Given the description of an element on the screen output the (x, y) to click on. 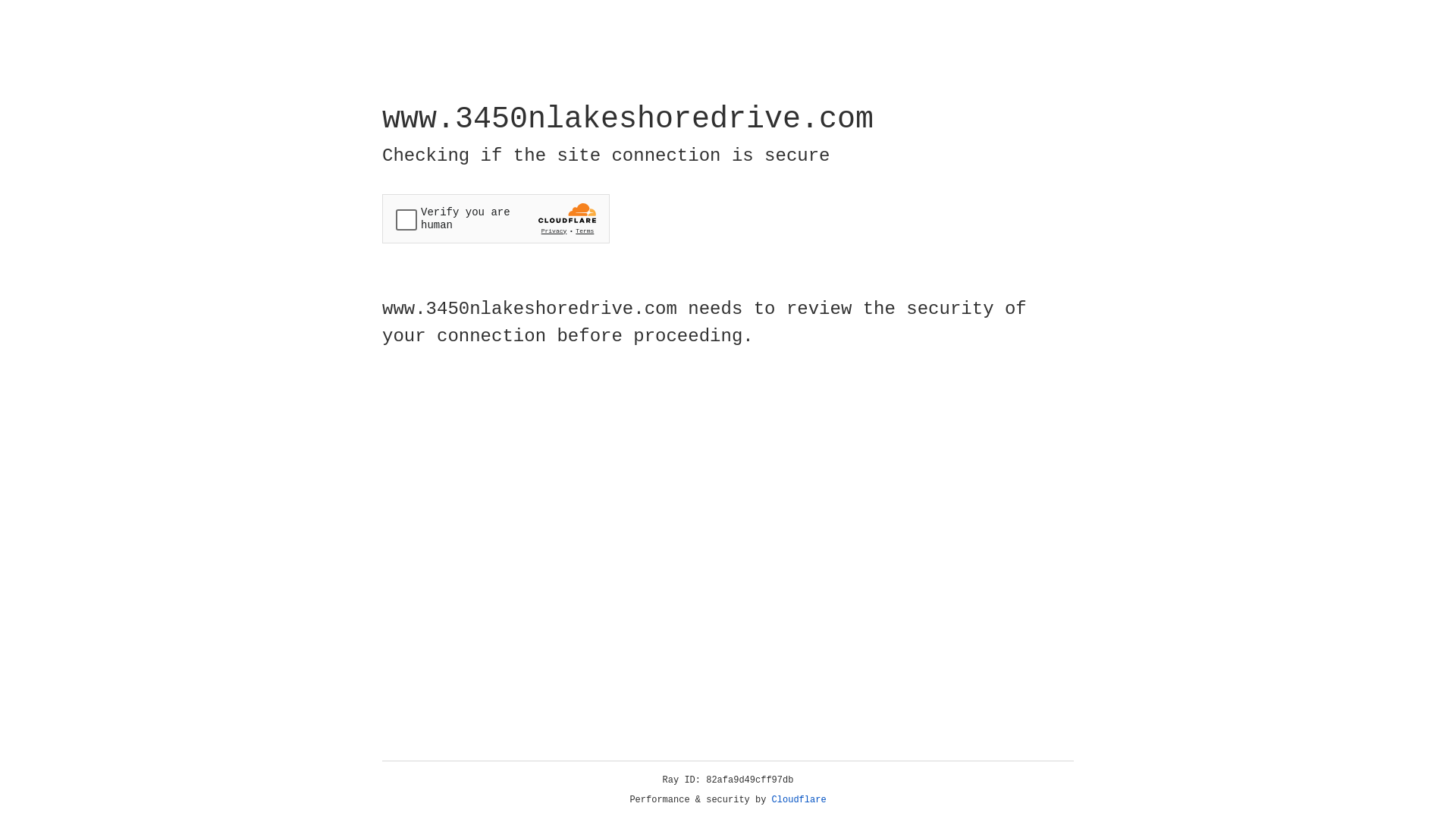
Widget containing a Cloudflare security challenge Element type: hover (495, 218)
Cloudflare Element type: text (798, 799)
